Given the description of an element on the screen output the (x, y) to click on. 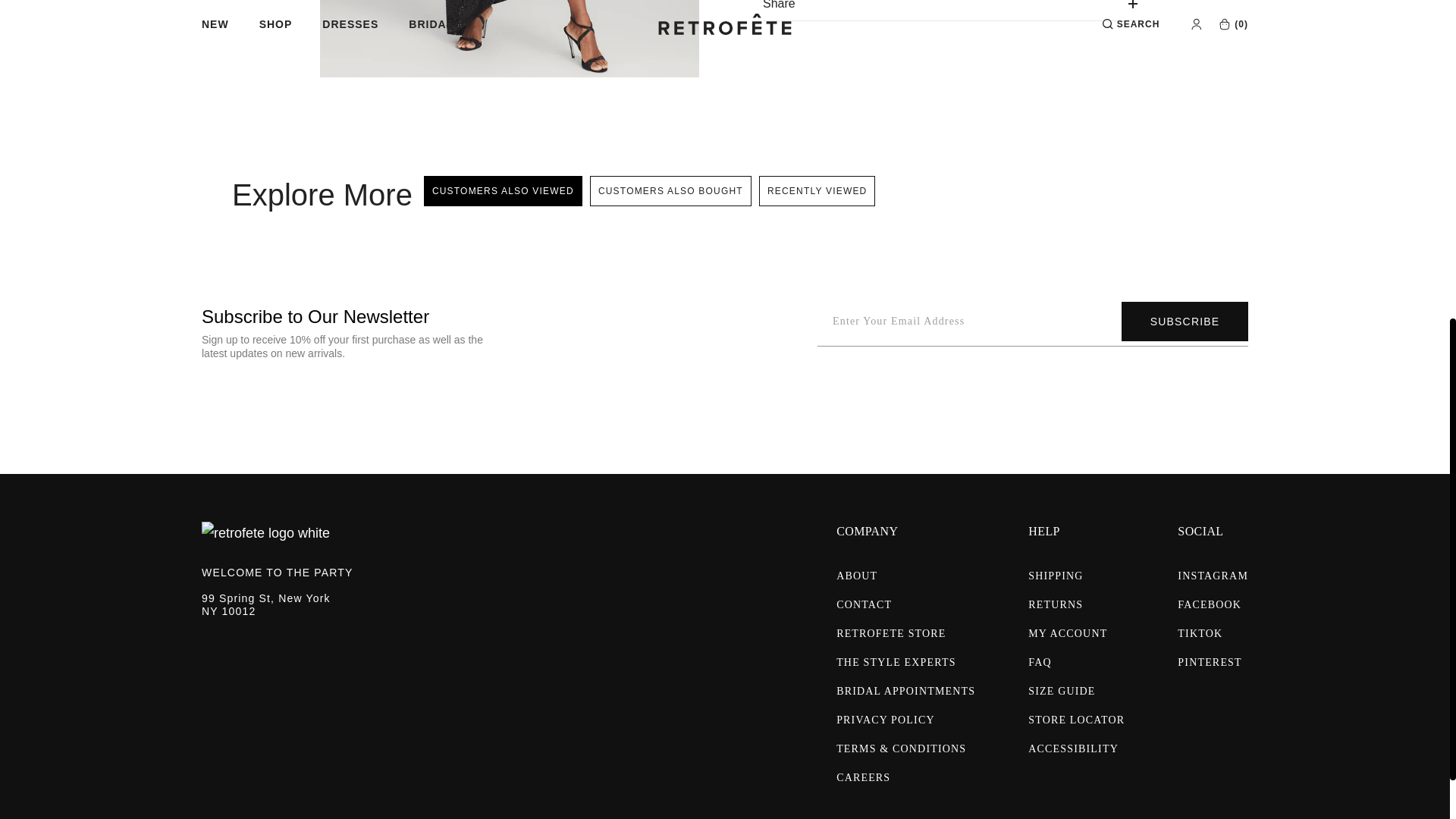
Violet Dress - Retrofete (509, 38)
Explore More (323, 194)
